Given the description of an element on the screen output the (x, y) to click on. 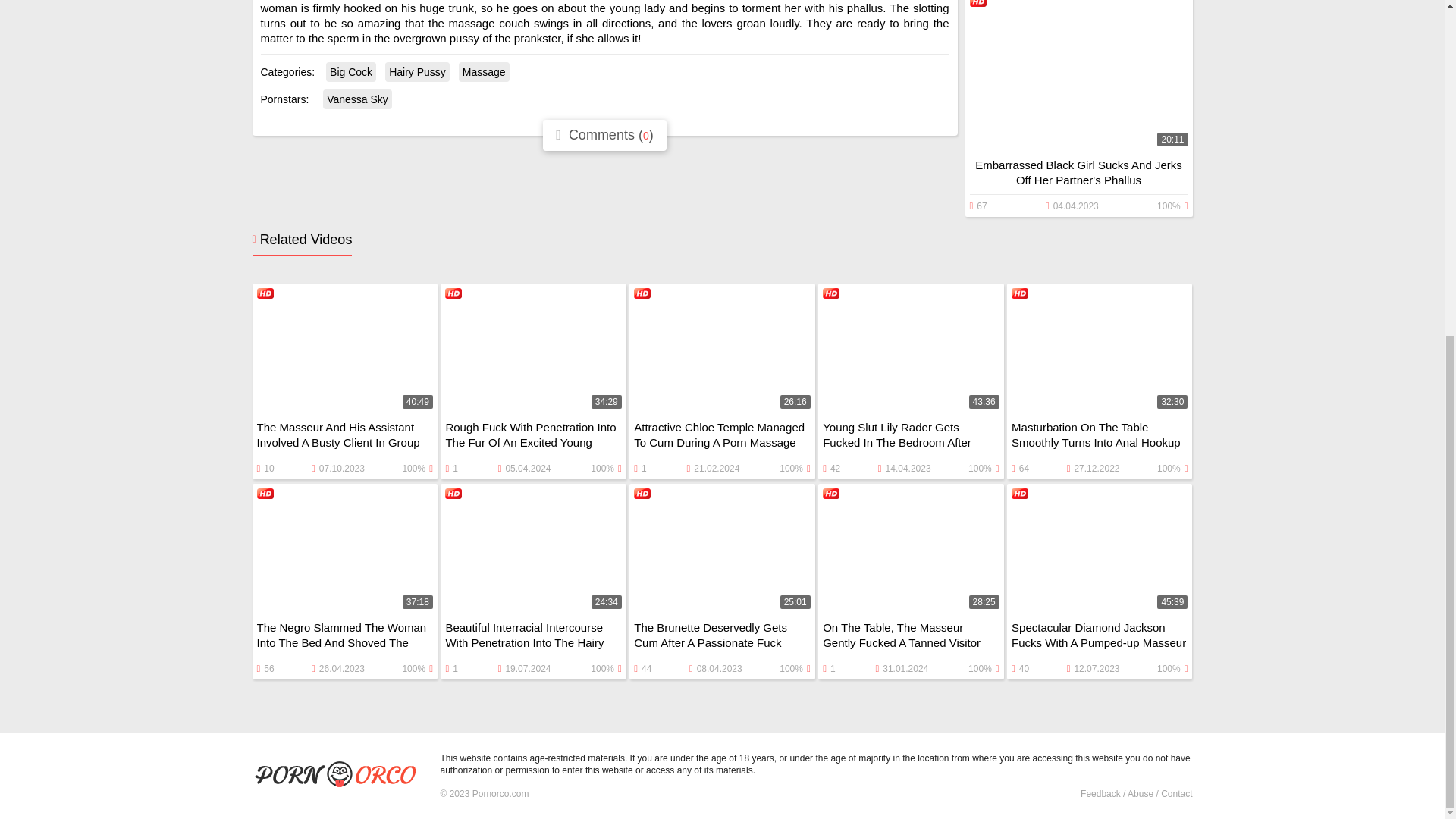
Massage (483, 71)
Big Cock (350, 71)
Massage (483, 71)
Hairy Pussy (417, 71)
Big Cock (350, 71)
Vanessa Sky (357, 98)
Vanessa Sky (357, 98)
Hairy Pussy (417, 71)
Pornorco (339, 775)
